Given the description of an element on the screen output the (x, y) to click on. 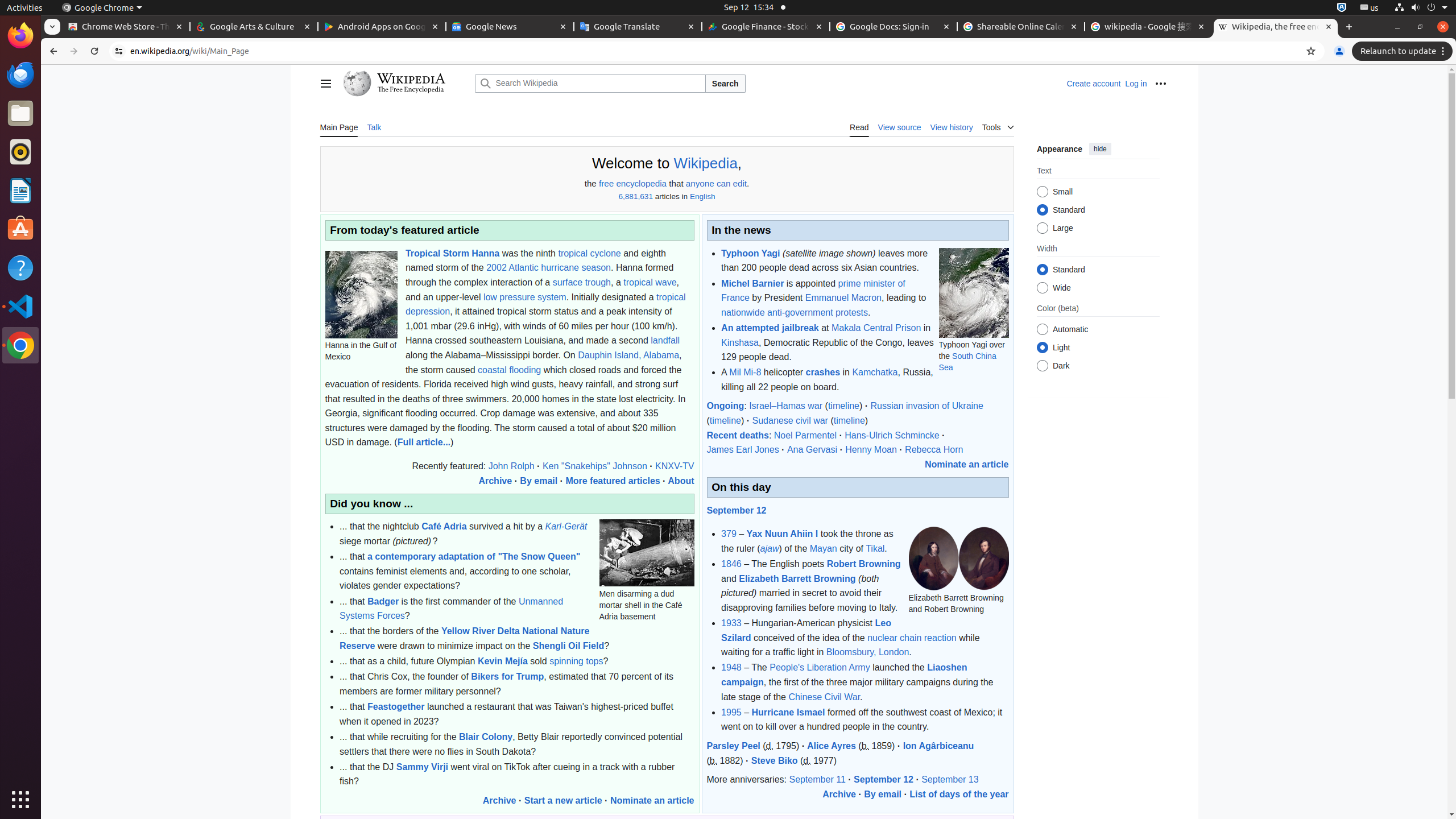
379 Element type: link (728, 533)
Ubuntu Software Element type: push-button (20, 229)
List of days of the year Element type: link (958, 793)
spinning tops Element type: link (576, 661)
LibreOffice Writer Element type: push-button (20, 190)
